Given the description of an element on the screen output the (x, y) to click on. 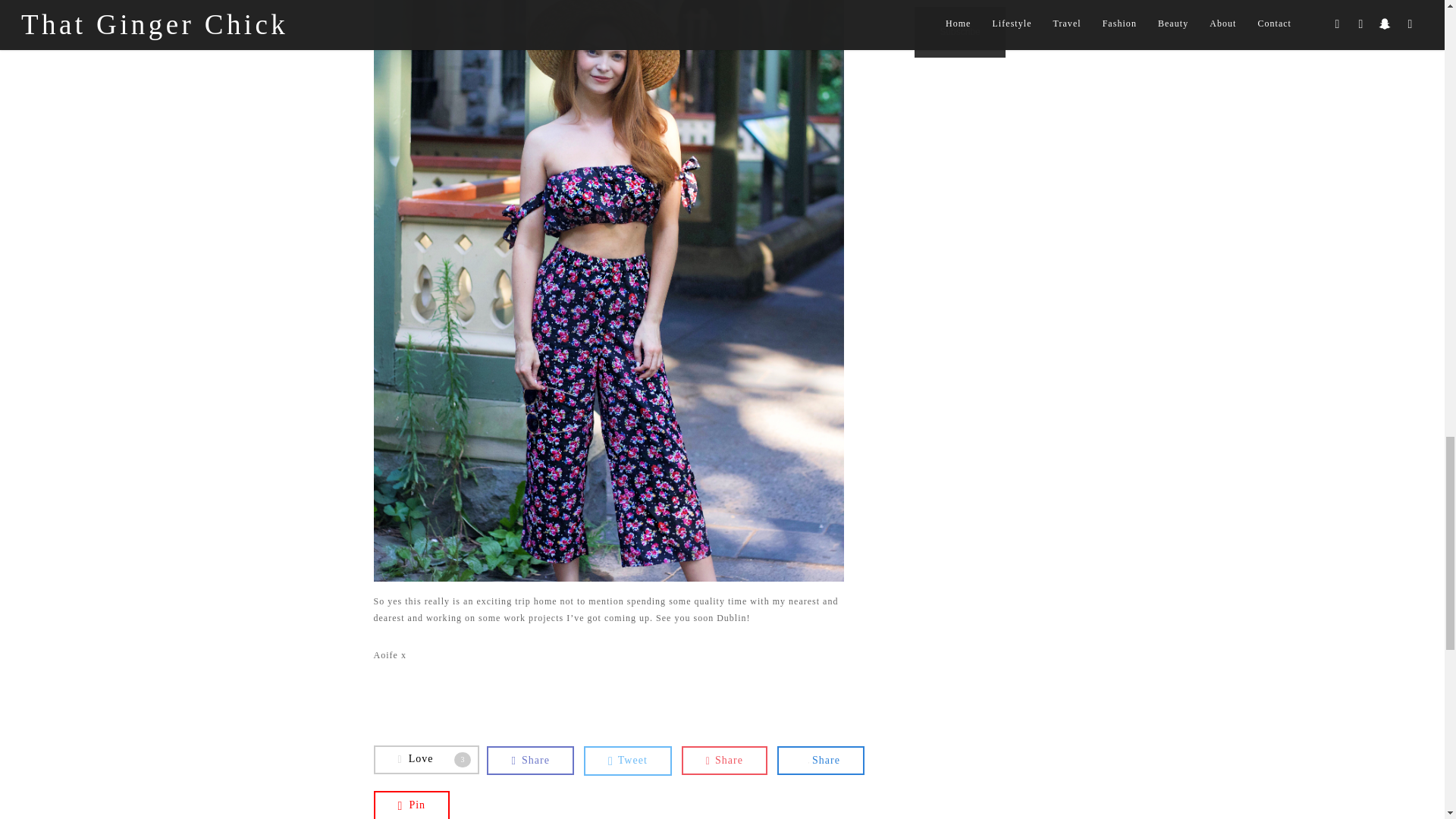
Share (529, 760)
Share this (529, 760)
Pin (410, 805)
Pin this (410, 805)
Subscribe (960, 31)
Love this (425, 759)
Share (820, 760)
Share this (820, 760)
Share (425, 759)
Tweet (724, 760)
Share this (627, 761)
Tweet this (724, 760)
